Given the description of an element on the screen output the (x, y) to click on. 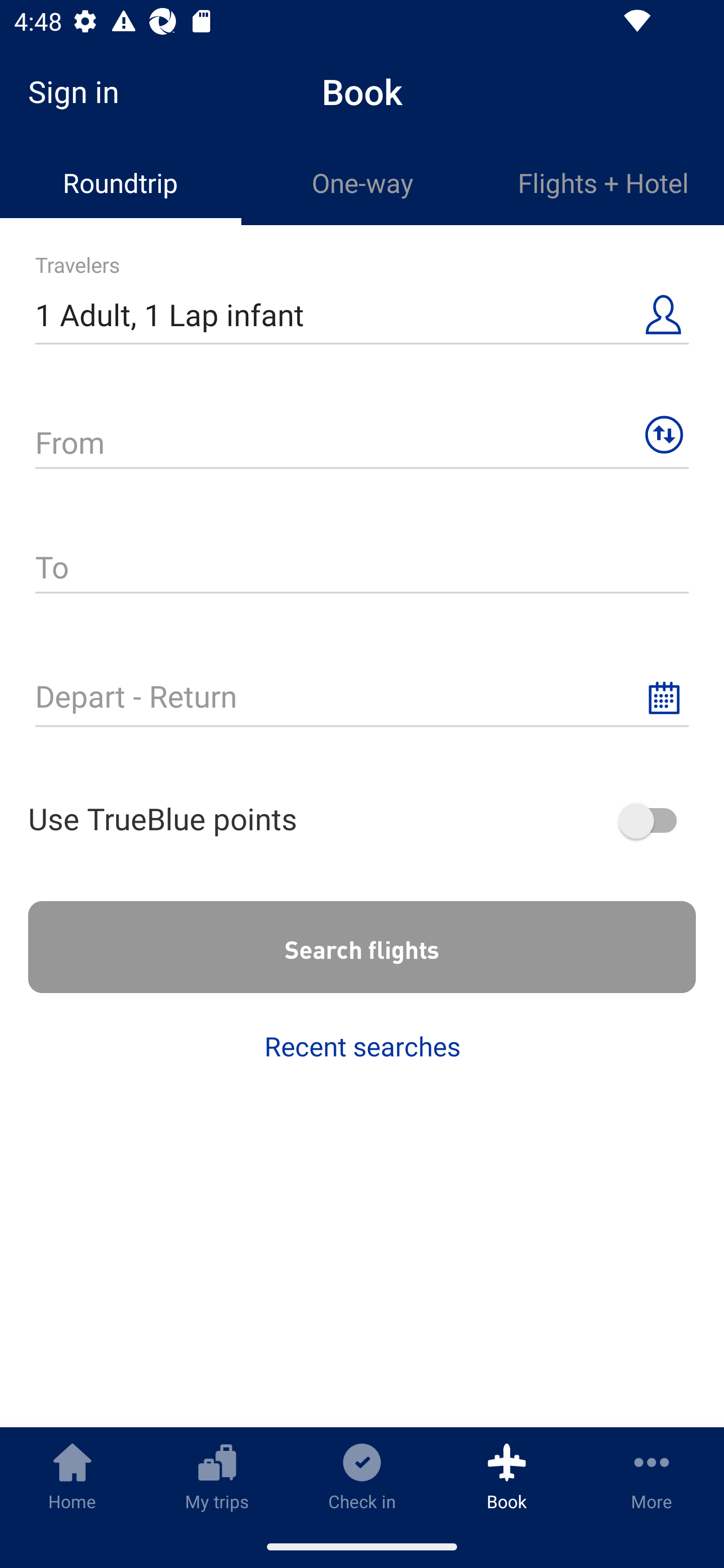
Sign in (80, 91)
One-way (361, 183)
Flights + Hotel (603, 183)
Travelers 1 Adult, 1 Lap infant (361, 306)
From (361, 433)
Swap origin and destination (663, 434)
To (361, 559)
Depart and return (361, 687)
Search flights (361, 946)
Recent searches (361, 1046)
Home (72, 1475)
My trips (216, 1475)
Check in (361, 1475)
More (651, 1475)
